Given the description of an element on the screen output the (x, y) to click on. 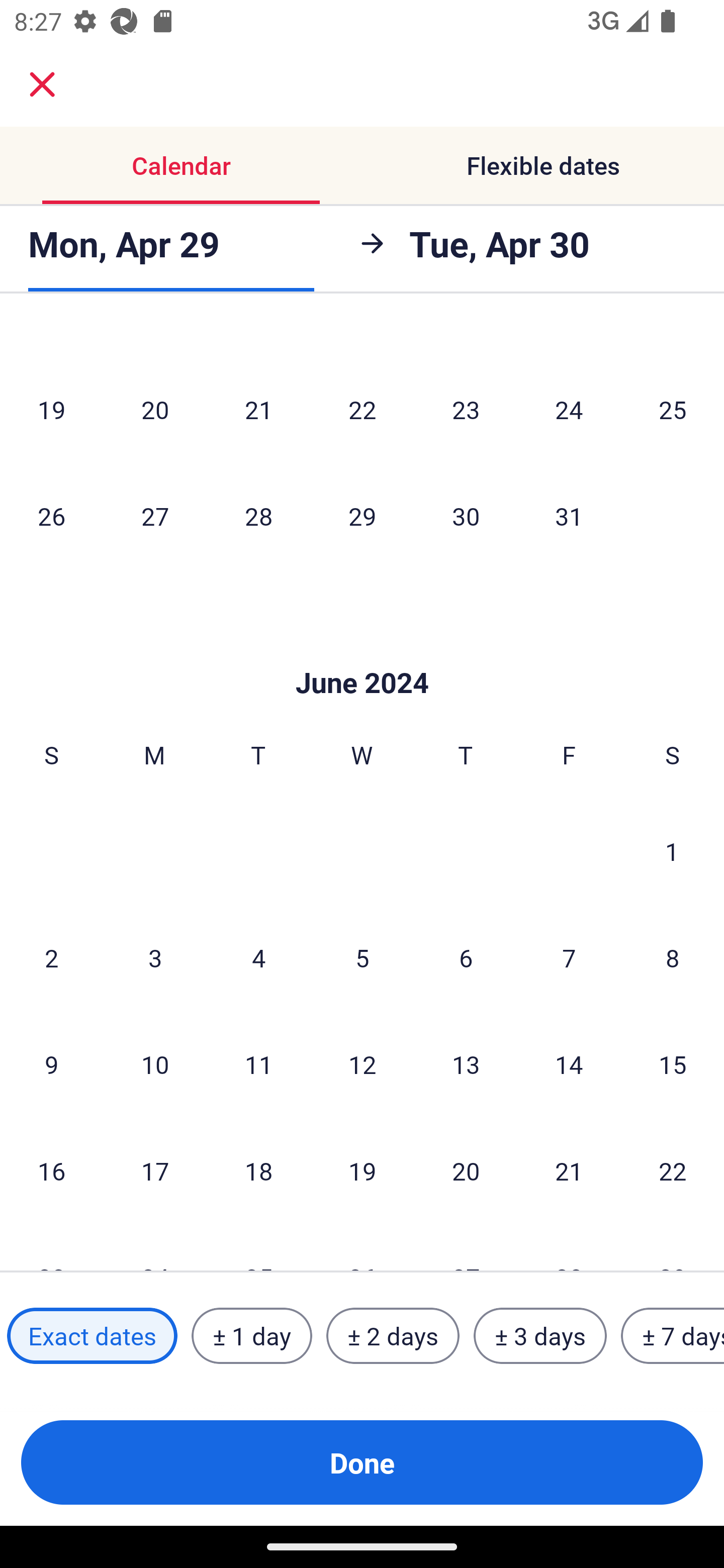
close. (42, 84)
Flexible dates (542, 164)
19 Sunday, May 19, 2024 (51, 408)
20 Monday, May 20, 2024 (155, 408)
21 Tuesday, May 21, 2024 (258, 408)
22 Wednesday, May 22, 2024 (362, 408)
23 Thursday, May 23, 2024 (465, 408)
24 Friday, May 24, 2024 (569, 408)
25 Saturday, May 25, 2024 (672, 408)
26 Sunday, May 26, 2024 (51, 515)
27 Monday, May 27, 2024 (155, 515)
28 Tuesday, May 28, 2024 (258, 515)
29 Wednesday, May 29, 2024 (362, 515)
30 Thursday, May 30, 2024 (465, 515)
31 Friday, May 31, 2024 (569, 515)
Skip to Done (362, 651)
1 Saturday, June 1, 2024 (672, 851)
2 Sunday, June 2, 2024 (51, 957)
3 Monday, June 3, 2024 (155, 957)
4 Tuesday, June 4, 2024 (258, 957)
5 Wednesday, June 5, 2024 (362, 957)
6 Thursday, June 6, 2024 (465, 957)
7 Friday, June 7, 2024 (569, 957)
8 Saturday, June 8, 2024 (672, 957)
9 Sunday, June 9, 2024 (51, 1064)
10 Monday, June 10, 2024 (155, 1064)
11 Tuesday, June 11, 2024 (258, 1064)
12 Wednesday, June 12, 2024 (362, 1064)
13 Thursday, June 13, 2024 (465, 1064)
14 Friday, June 14, 2024 (569, 1064)
15 Saturday, June 15, 2024 (672, 1064)
16 Sunday, June 16, 2024 (51, 1170)
17 Monday, June 17, 2024 (155, 1170)
18 Tuesday, June 18, 2024 (258, 1170)
19 Wednesday, June 19, 2024 (362, 1170)
20 Thursday, June 20, 2024 (465, 1170)
21 Friday, June 21, 2024 (569, 1170)
22 Saturday, June 22, 2024 (672, 1170)
Exact dates (92, 1335)
± 1 day (251, 1335)
± 2 days (392, 1335)
± 3 days (539, 1335)
± 7 days (672, 1335)
Done (361, 1462)
